Given the description of an element on the screen output the (x, y) to click on. 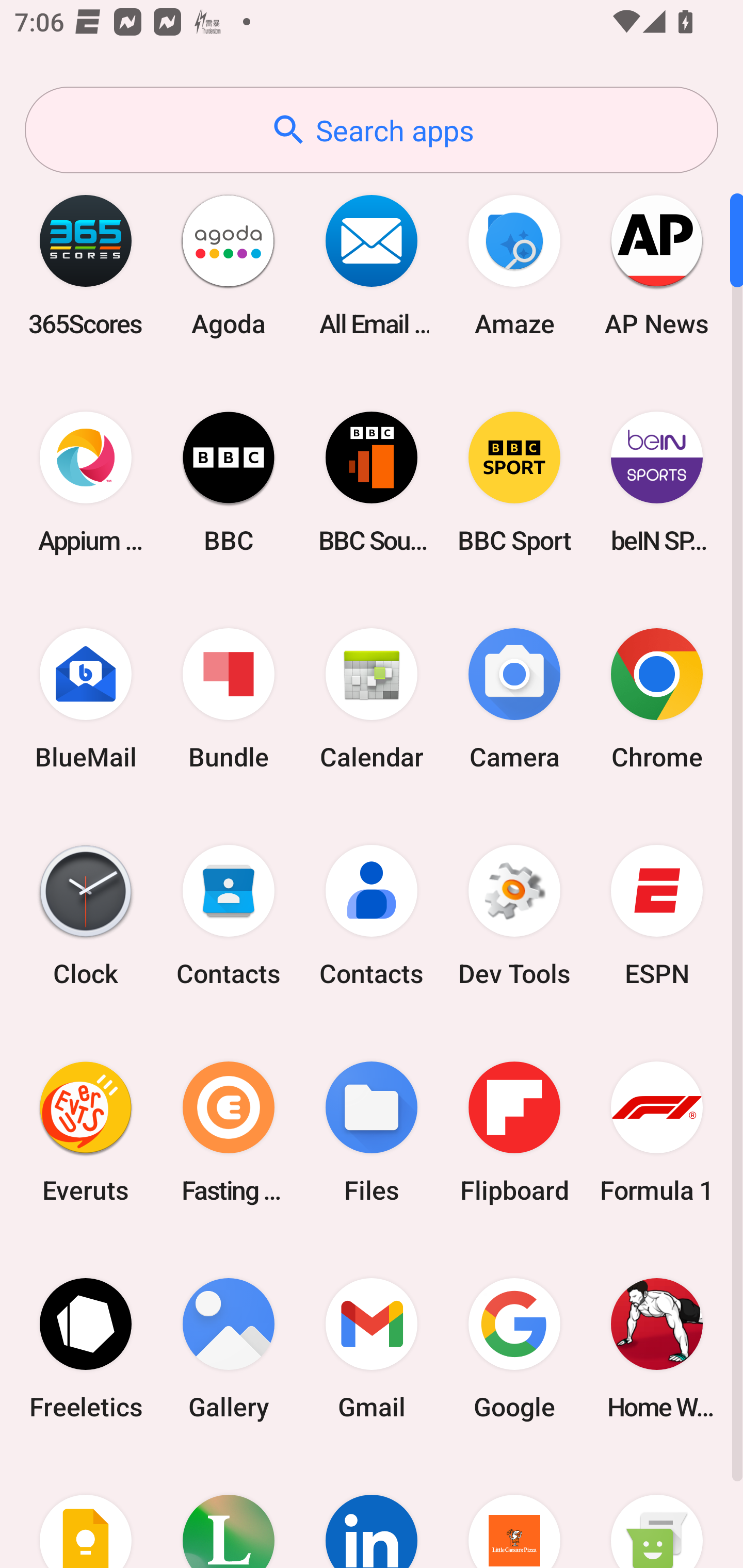
  Search apps (371, 130)
365Scores (85, 264)
Agoda (228, 264)
All Email Connect (371, 264)
Amaze (514, 264)
AP News (656, 264)
Appium Settings (85, 482)
BBC (228, 482)
BBC Sounds (371, 482)
BBC Sport (514, 482)
beIN SPORTS (656, 482)
BlueMail (85, 699)
Bundle (228, 699)
Calendar (371, 699)
Camera (514, 699)
Chrome (656, 699)
Clock (85, 915)
Contacts (228, 915)
Contacts (371, 915)
Dev Tools (514, 915)
ESPN (656, 915)
Everuts (85, 1131)
Fasting Coach (228, 1131)
Files (371, 1131)
Flipboard (514, 1131)
Formula 1 (656, 1131)
Freeletics (85, 1348)
Gallery (228, 1348)
Gmail (371, 1348)
Google (514, 1348)
Home Workout (656, 1348)
Keep Notes (85, 1512)
Lifesum (228, 1512)
LinkedIn (371, 1512)
Little Caesars Pizza (514, 1512)
Messaging (656, 1512)
